Given the description of an element on the screen output the (x, y) to click on. 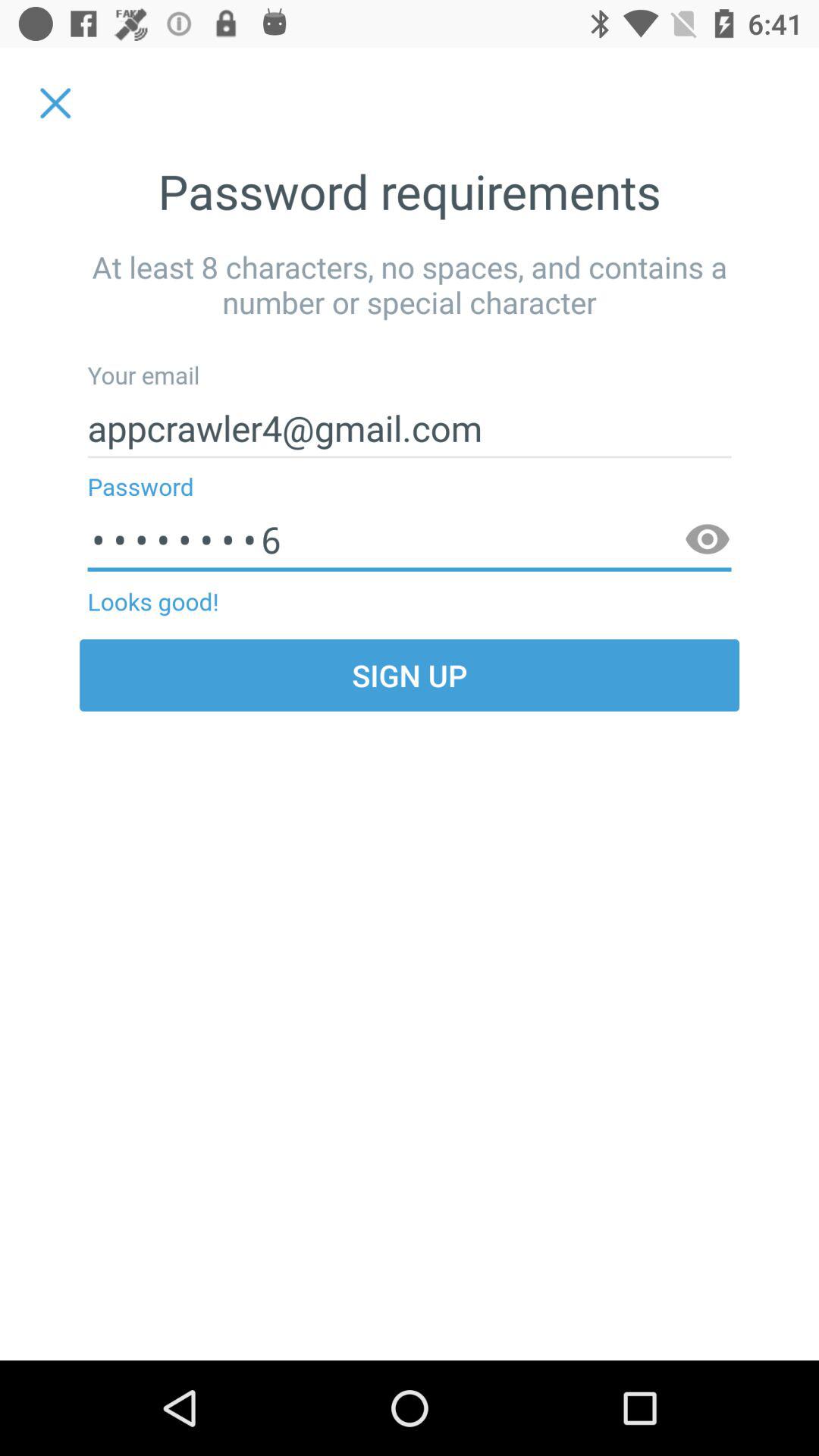
click app below the looks good! app (409, 675)
